Given the description of an element on the screen output the (x, y) to click on. 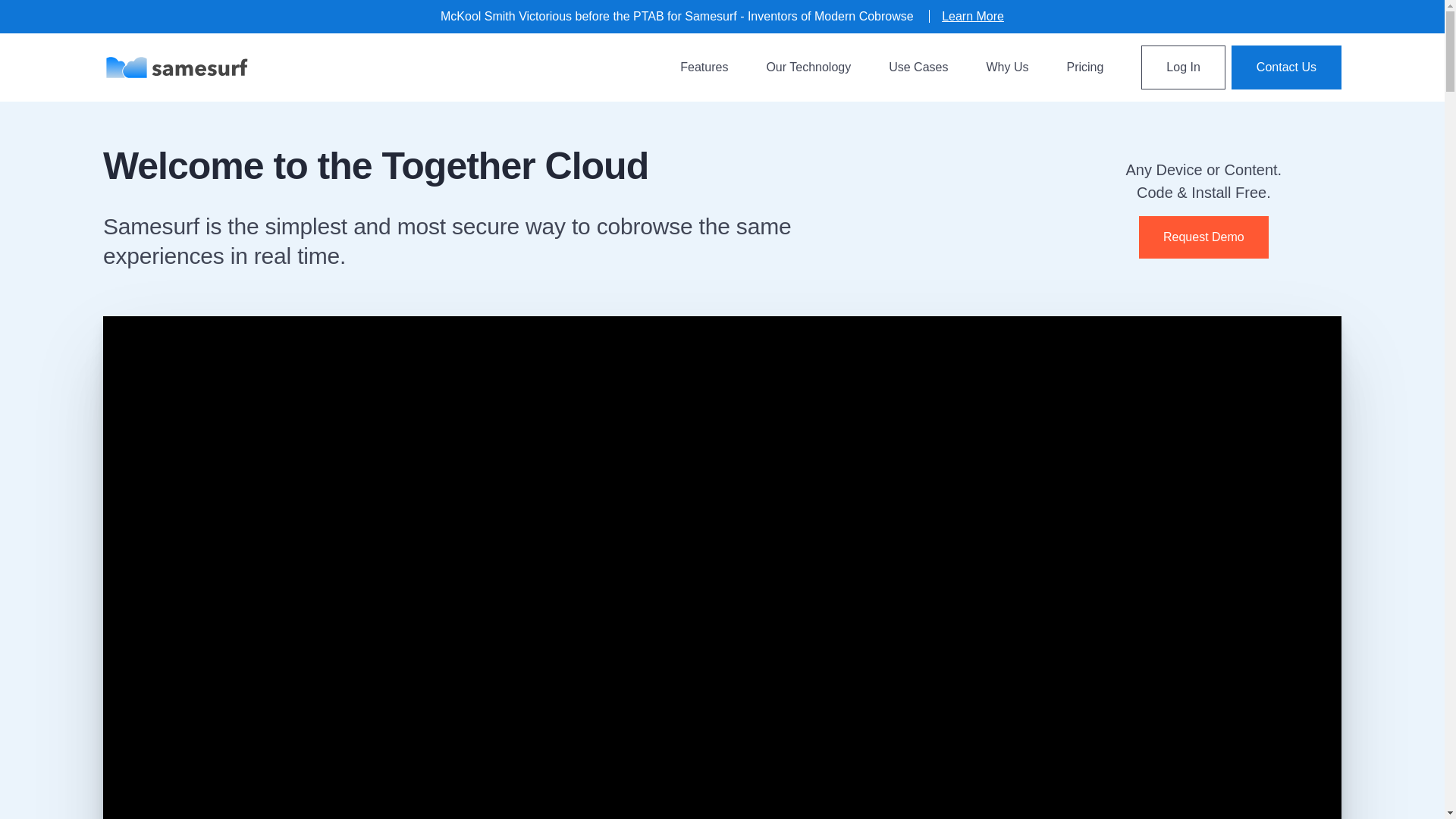
Request Demo (1203, 236)
Contact Us (1285, 66)
Log In (1182, 66)
Pricing (1084, 67)
Features (703, 67)
